Given the description of an element on the screen output the (x, y) to click on. 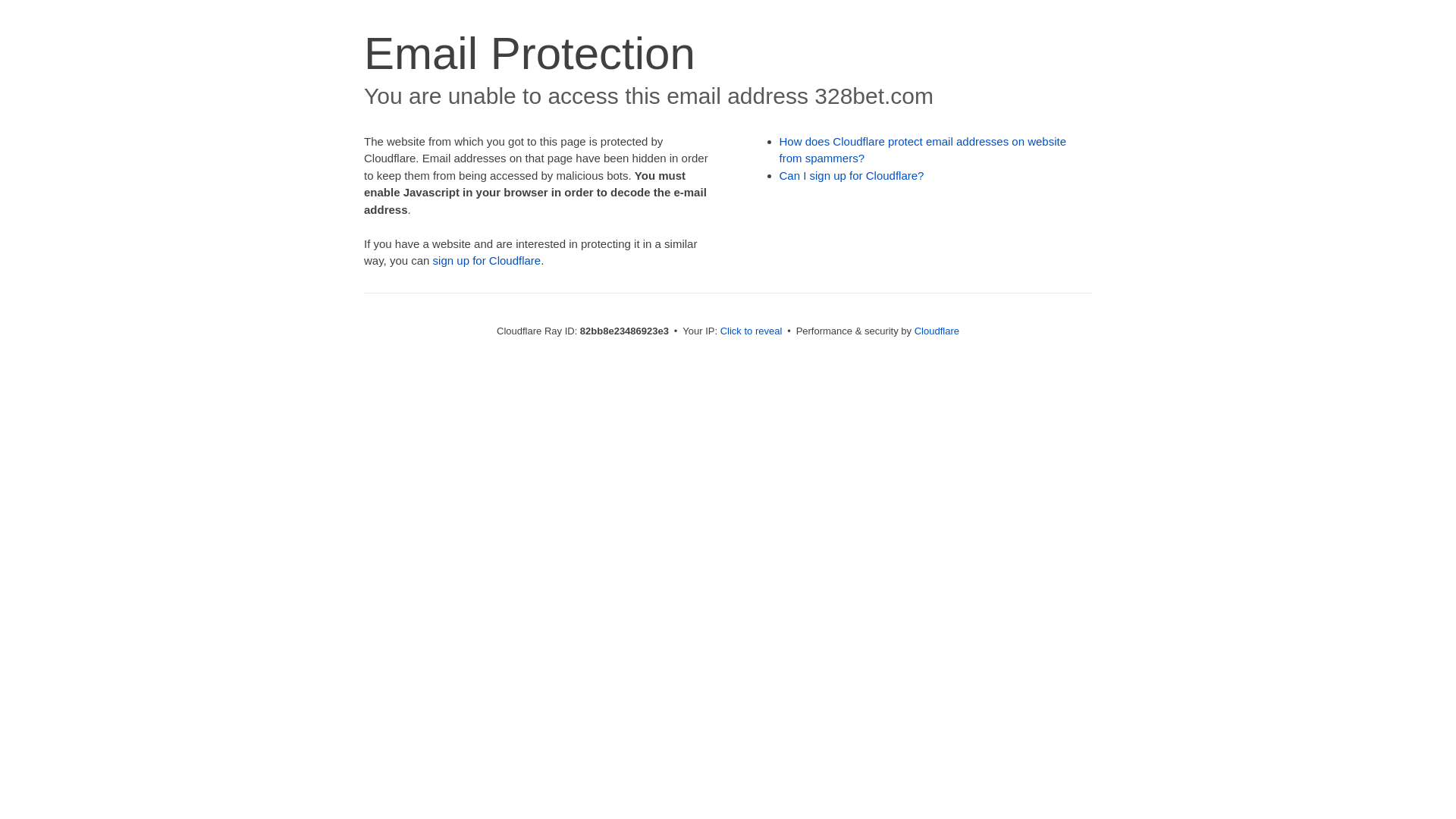
Click to reveal Element type: text (751, 330)
Can I sign up for Cloudflare? Element type: text (851, 175)
sign up for Cloudflare Element type: text (487, 260)
Cloudflare Element type: text (936, 330)
